Given the description of an element on the screen output the (x, y) to click on. 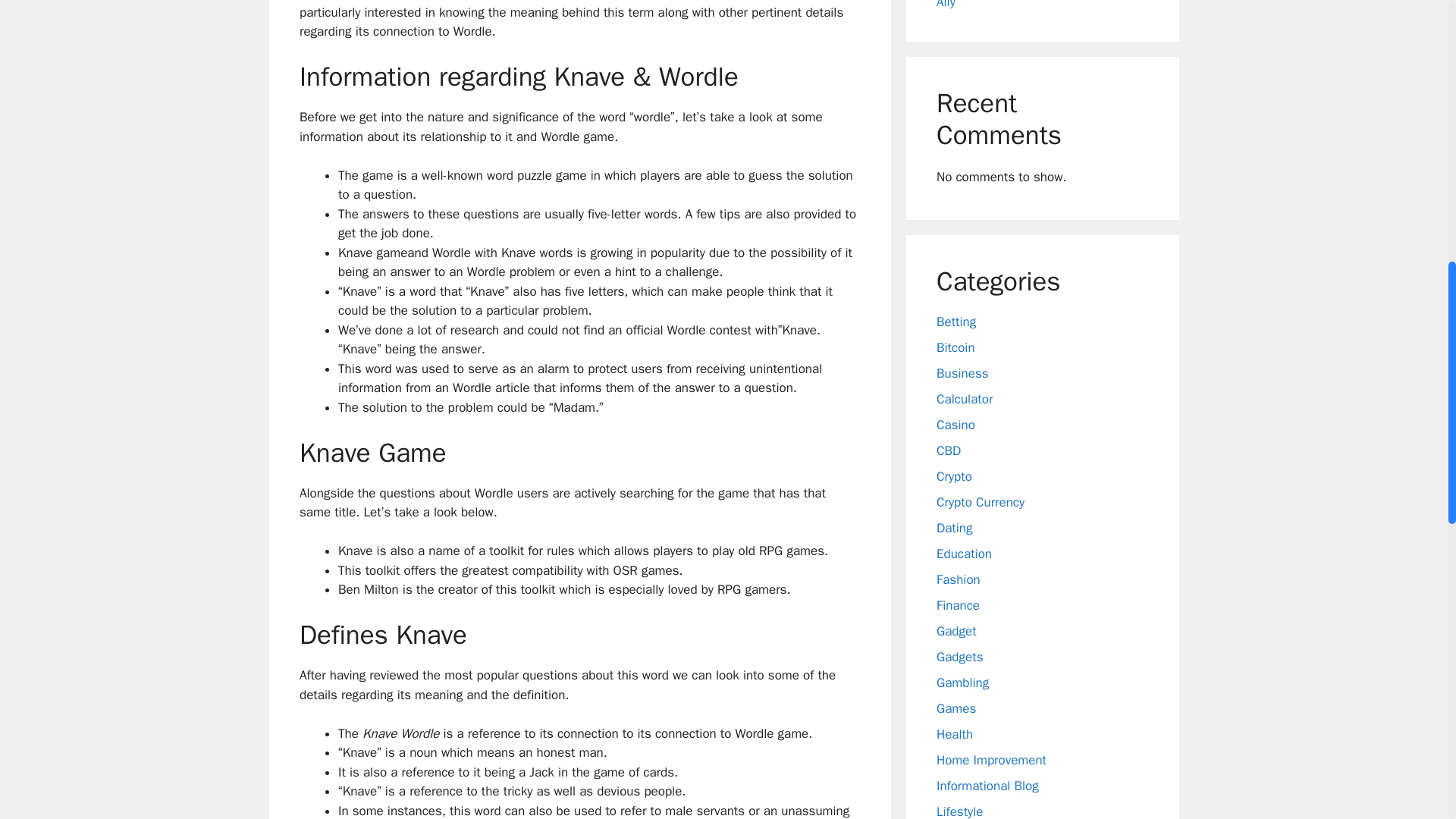
Dating (954, 528)
Bitcoin (955, 347)
Betting (955, 321)
6 Easy Steps to Become an LGBTQ Ally (1035, 4)
Fashion (957, 579)
Crypto Currency (980, 502)
Crypto (954, 476)
Scroll back to top (1409, 720)
Calculator (964, 399)
Education (963, 553)
CBD (948, 450)
Casino (955, 424)
Business (962, 373)
